Given the description of an element on the screen output the (x, y) to click on. 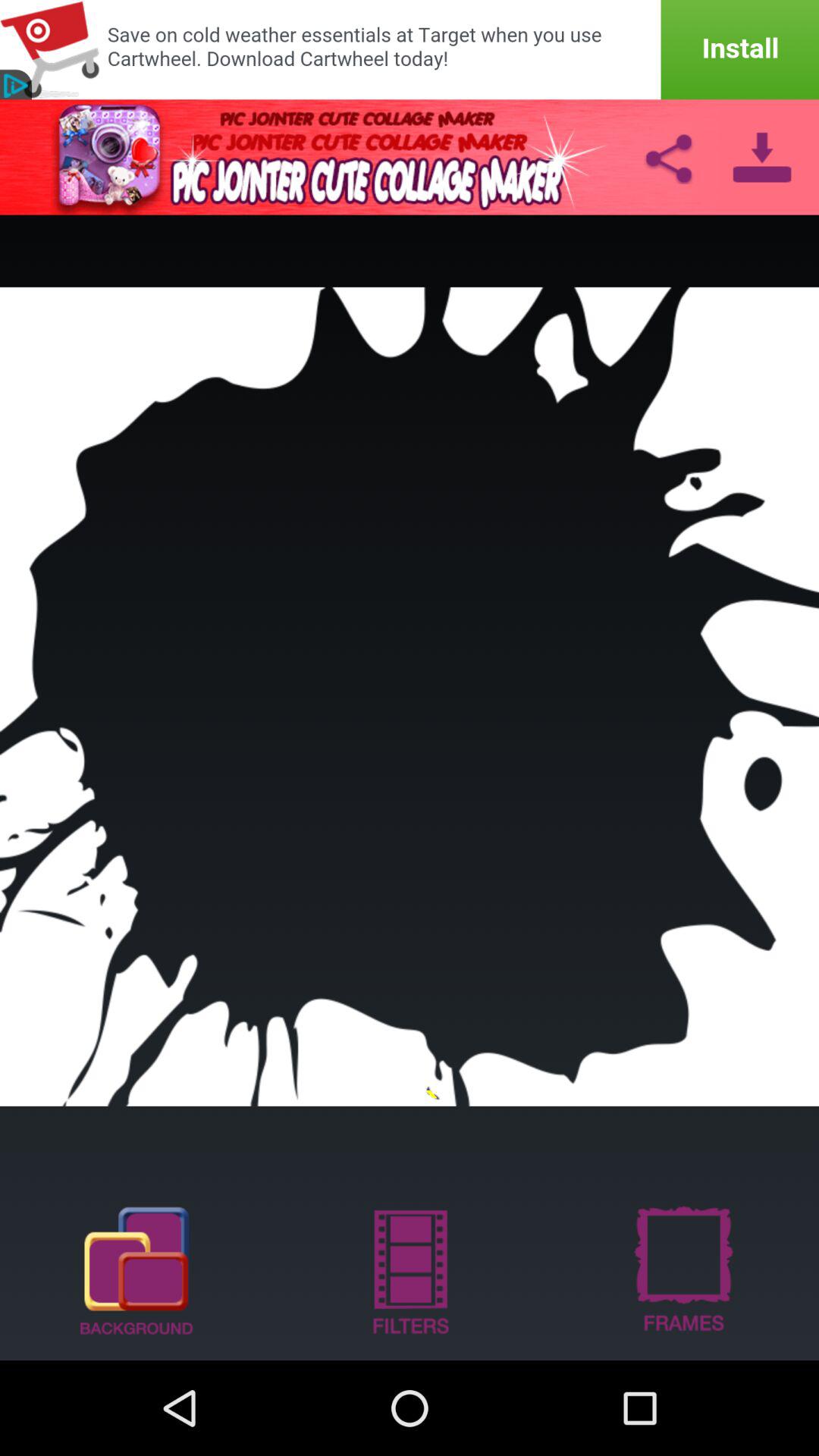
show background options (136, 1269)
